Given the description of an element on the screen output the (x, y) to click on. 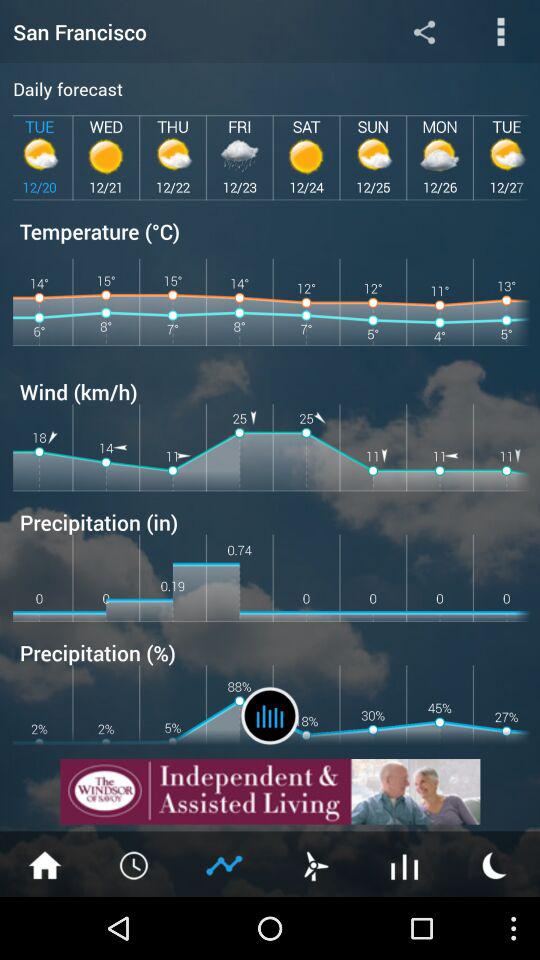
wind (315, 864)
